Given the description of an element on the screen output the (x, y) to click on. 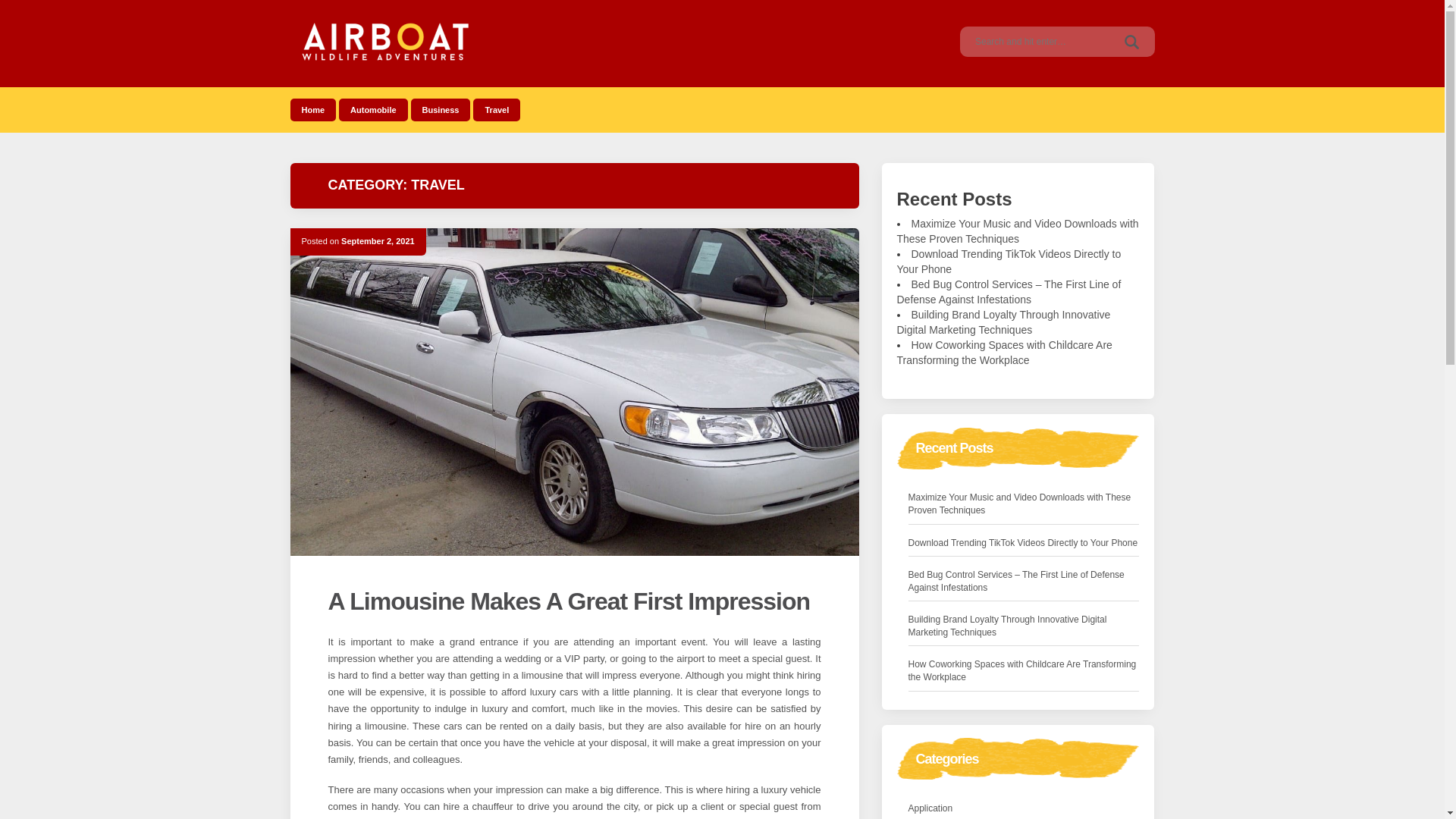
Search (1131, 41)
Travel (496, 109)
Search (1131, 41)
Business (440, 109)
September 2, 2021 (377, 240)
Automobile (373, 109)
Automobile (373, 109)
Business (440, 109)
Home (312, 109)
Search (1131, 41)
